Given the description of an element on the screen output the (x, y) to click on. 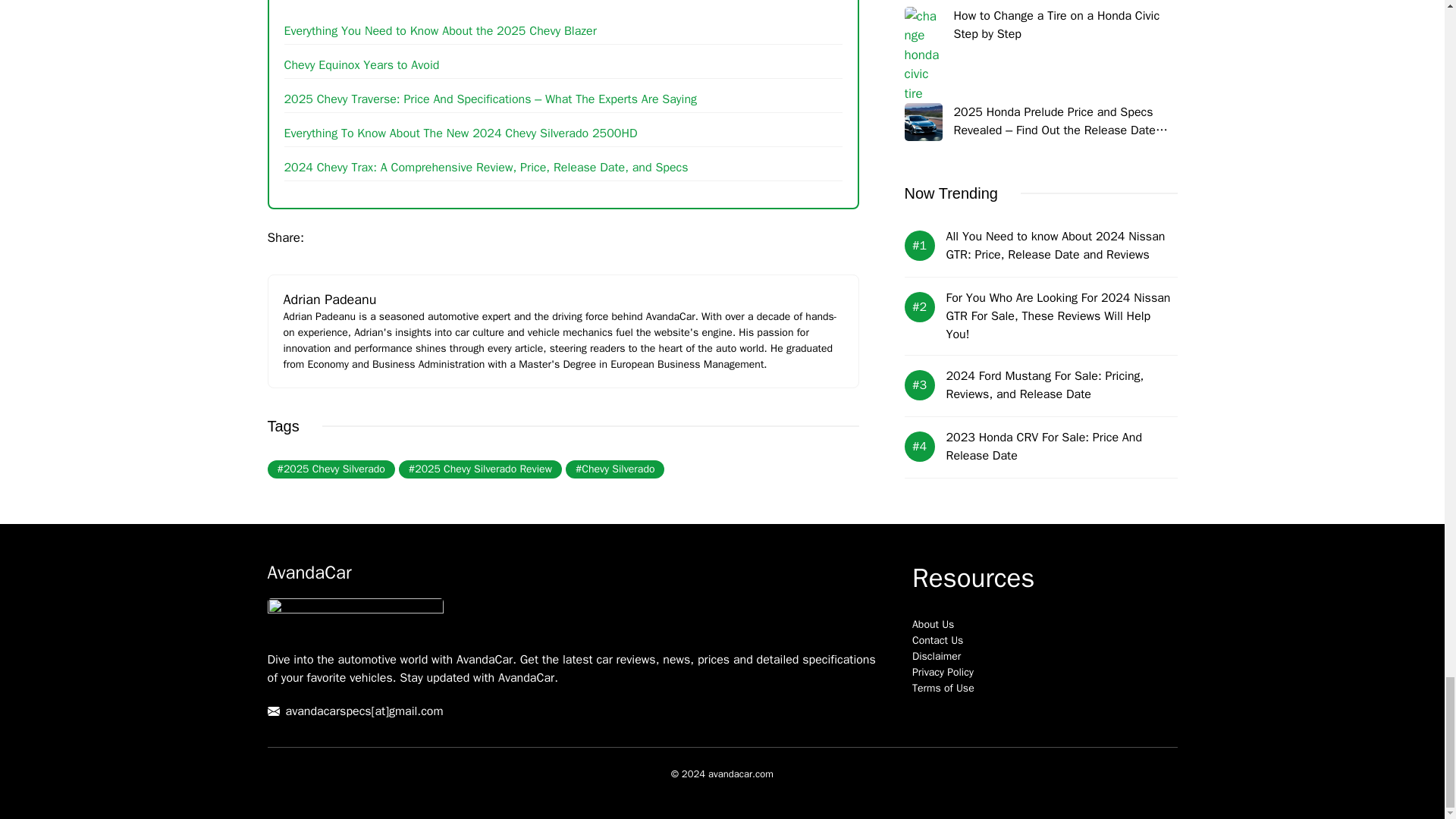
Everything You Need to Know About the 2025 Chevy Blazer (439, 30)
Everything To Know About The New 2024 Chevy Silverado 2500HD (460, 133)
Chevy Equinox Years to Avoid (361, 64)
